Given the description of an element on the screen output the (x, y) to click on. 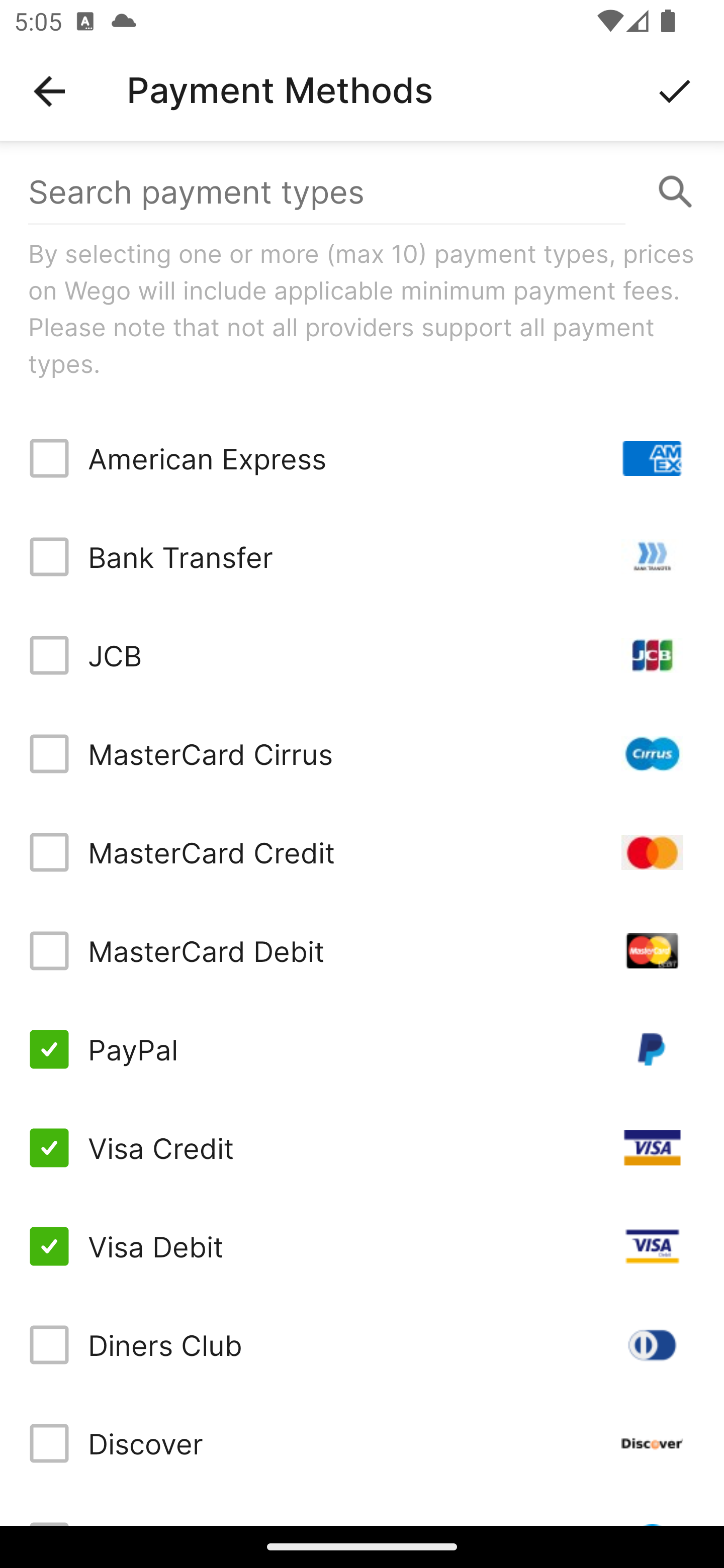
Search payment types  (361, 191)
American Express (362, 458)
Bank Transfer (362, 557)
JCB (362, 655)
MasterCard Cirrus (362, 753)
MasterCard Credit (362, 851)
MasterCard Debit (362, 950)
PayPal (362, 1049)
Visa Credit (362, 1147)
Visa Debit (362, 1245)
Diners Club (362, 1344)
Discover (362, 1442)
